Given the description of an element on the screen output the (x, y) to click on. 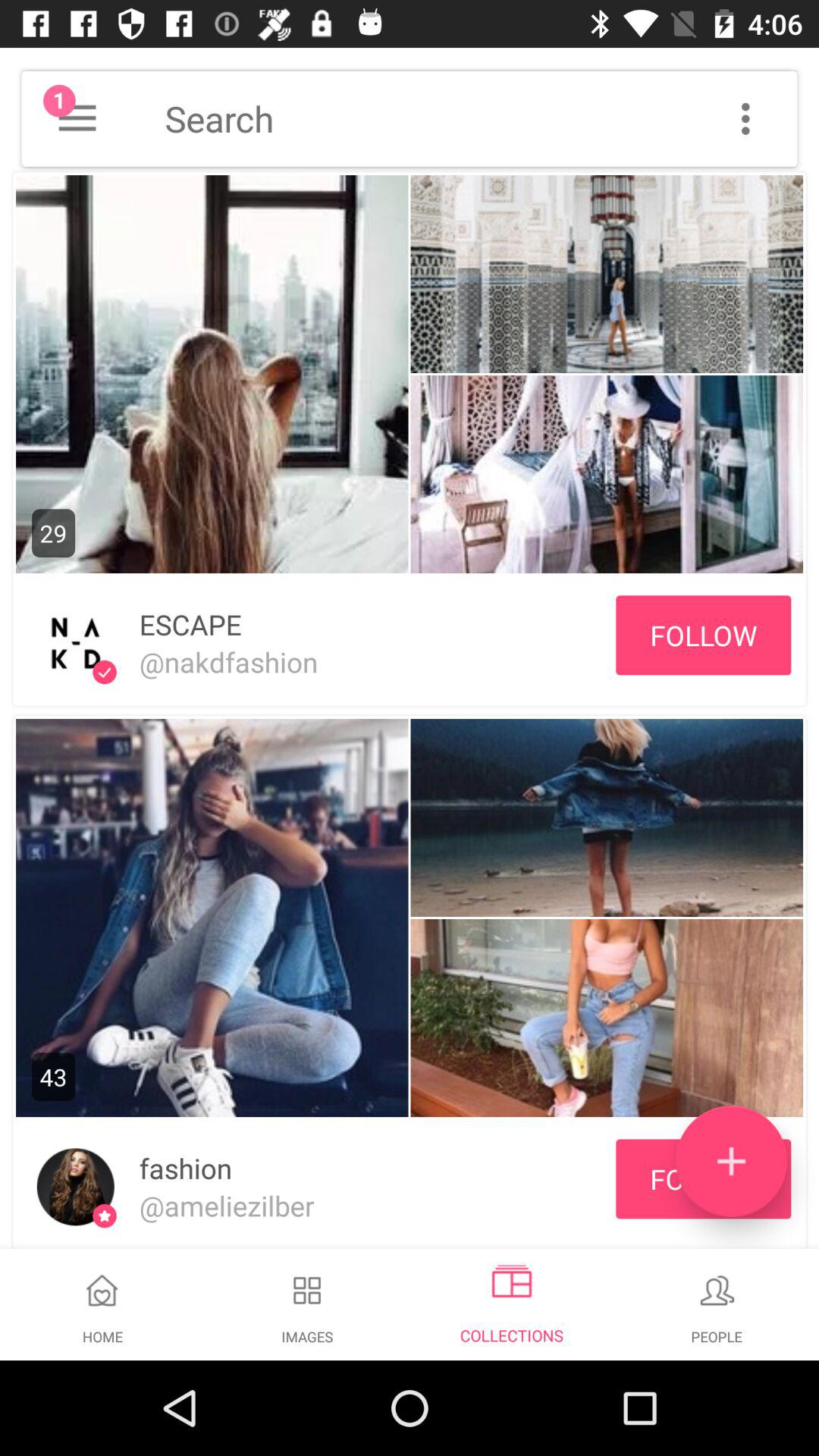
more options (745, 118)
